Given the description of an element on the screen output the (x, y) to click on. 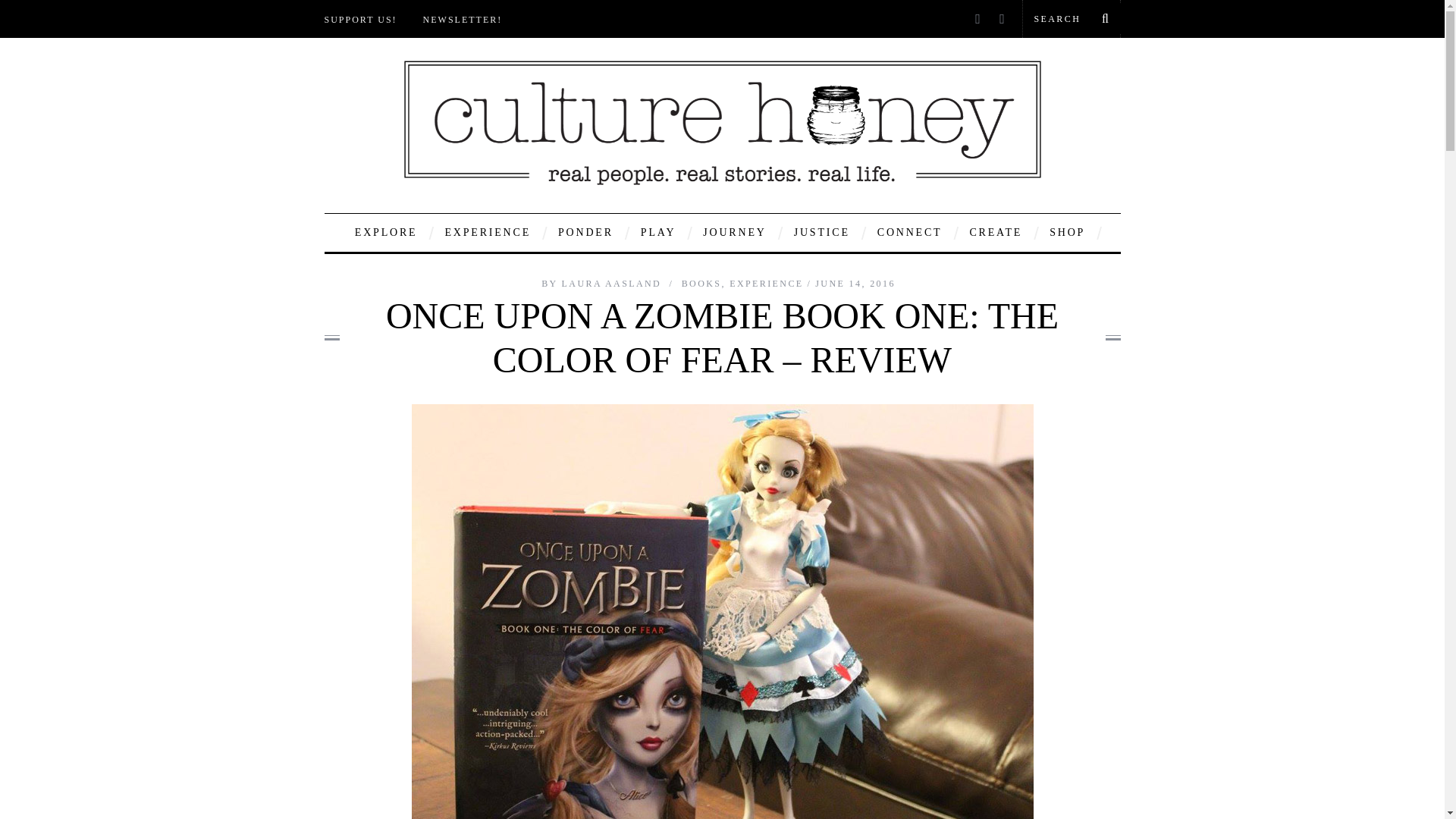
PONDER (585, 232)
SUPPORT US! (360, 24)
NEWSLETTER! (462, 24)
EXPLORE (386, 232)
Search (1071, 18)
EXPERIENCE (486, 232)
